Given the description of an element on the screen output the (x, y) to click on. 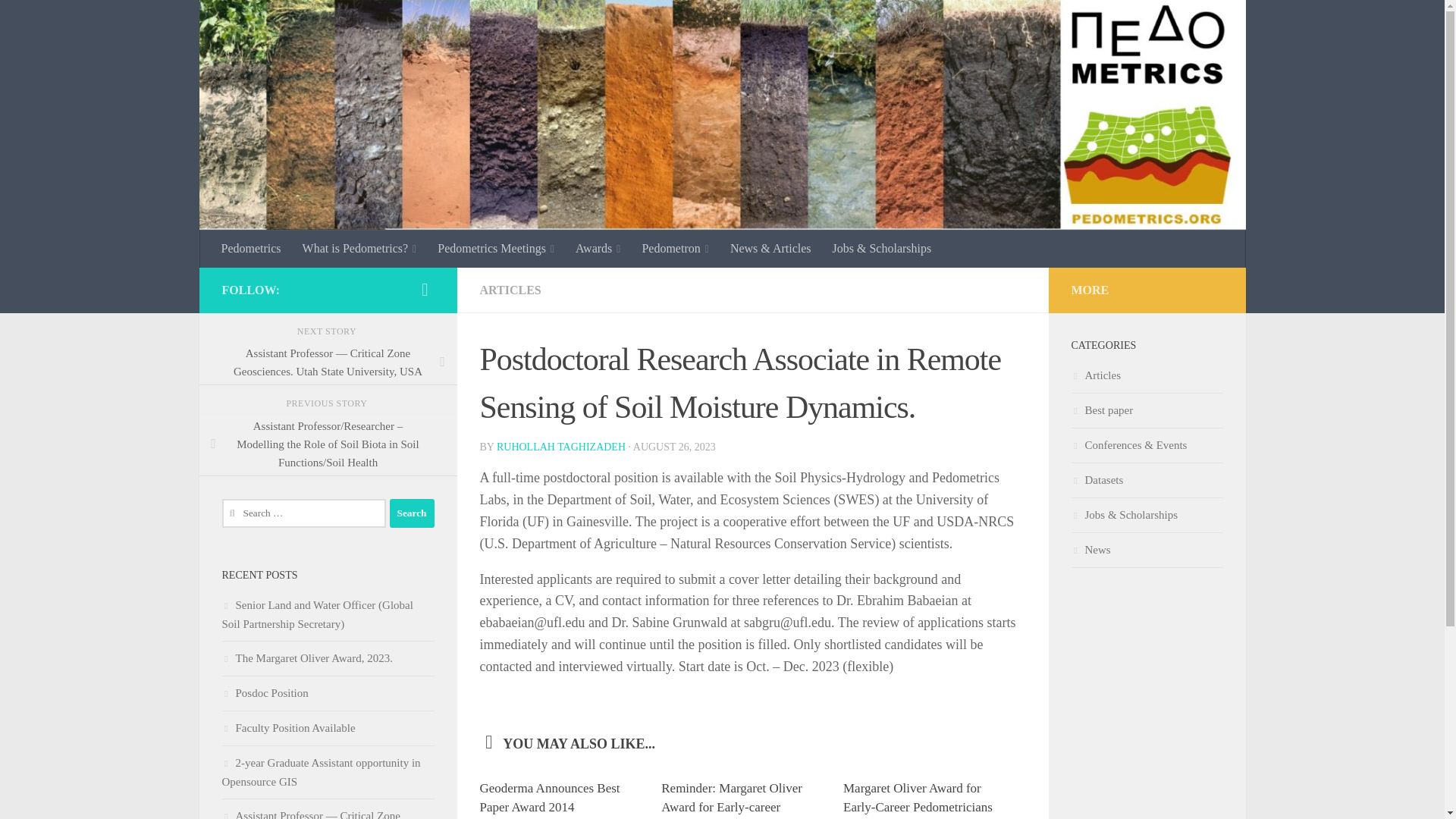
Pedometrics (251, 248)
What is Pedometrics? (360, 248)
Search (411, 512)
Search (411, 512)
Skip to content (59, 20)
Posts by Ruhollah Taghizadeh (561, 446)
Follow us on Twitter (423, 289)
